Given the description of an element on the screen output the (x, y) to click on. 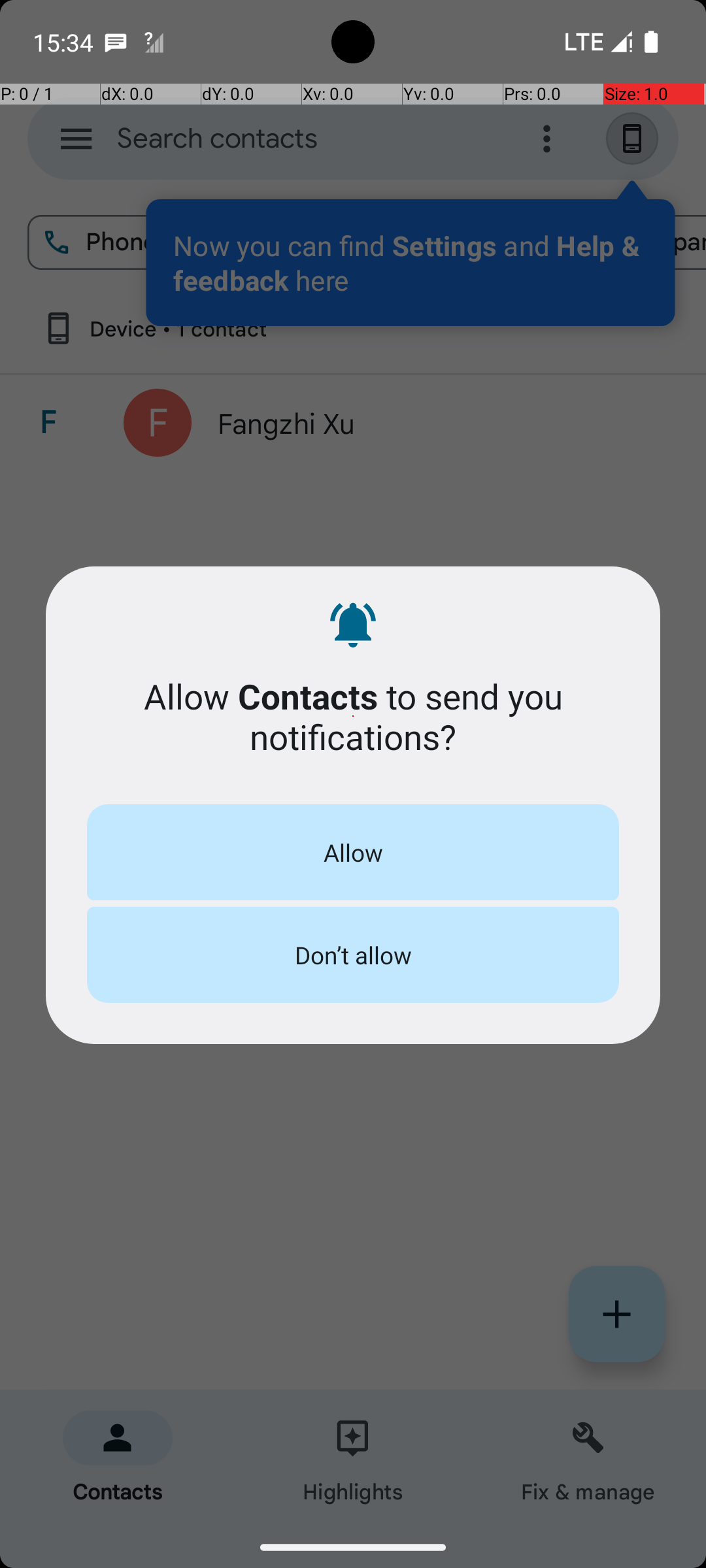
Allow Contacts to send you notifications? Element type: android.widget.TextView (352, 715)
Allow Element type: android.widget.Button (352, 852)
